Given the description of an element on the screen output the (x, y) to click on. 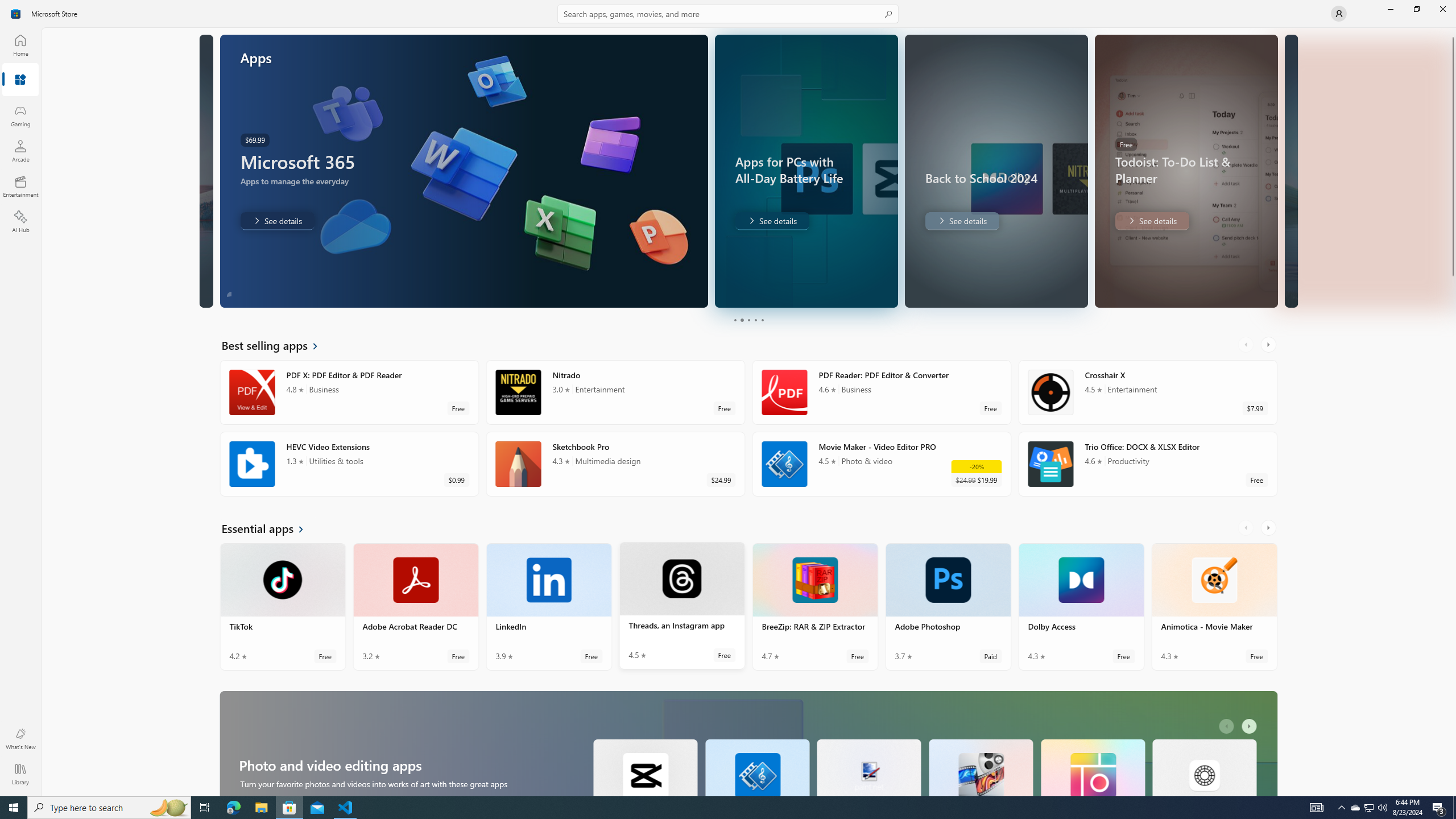
Arcade (20, 150)
Files App. Average rating of 4.2 out of five stars. $8.99   (814, 669)
Netflix. Average rating of 3.6 out of five stars. Free   (615, 526)
Entertainment (20, 185)
Pic Collage. Average rating of 4.8 out of five stars. Free   (1092, 110)
Vertical Large Decrease (1452, 144)
Home (20, 45)
Concepts. Average rating of 4.5 out of five stars. Free   (681, 669)
Canva. Average rating of 4.8 out of five stars. Free   (282, 311)
Minimize Microsoft Store (1390, 9)
